Given the description of an element on the screen output the (x, y) to click on. 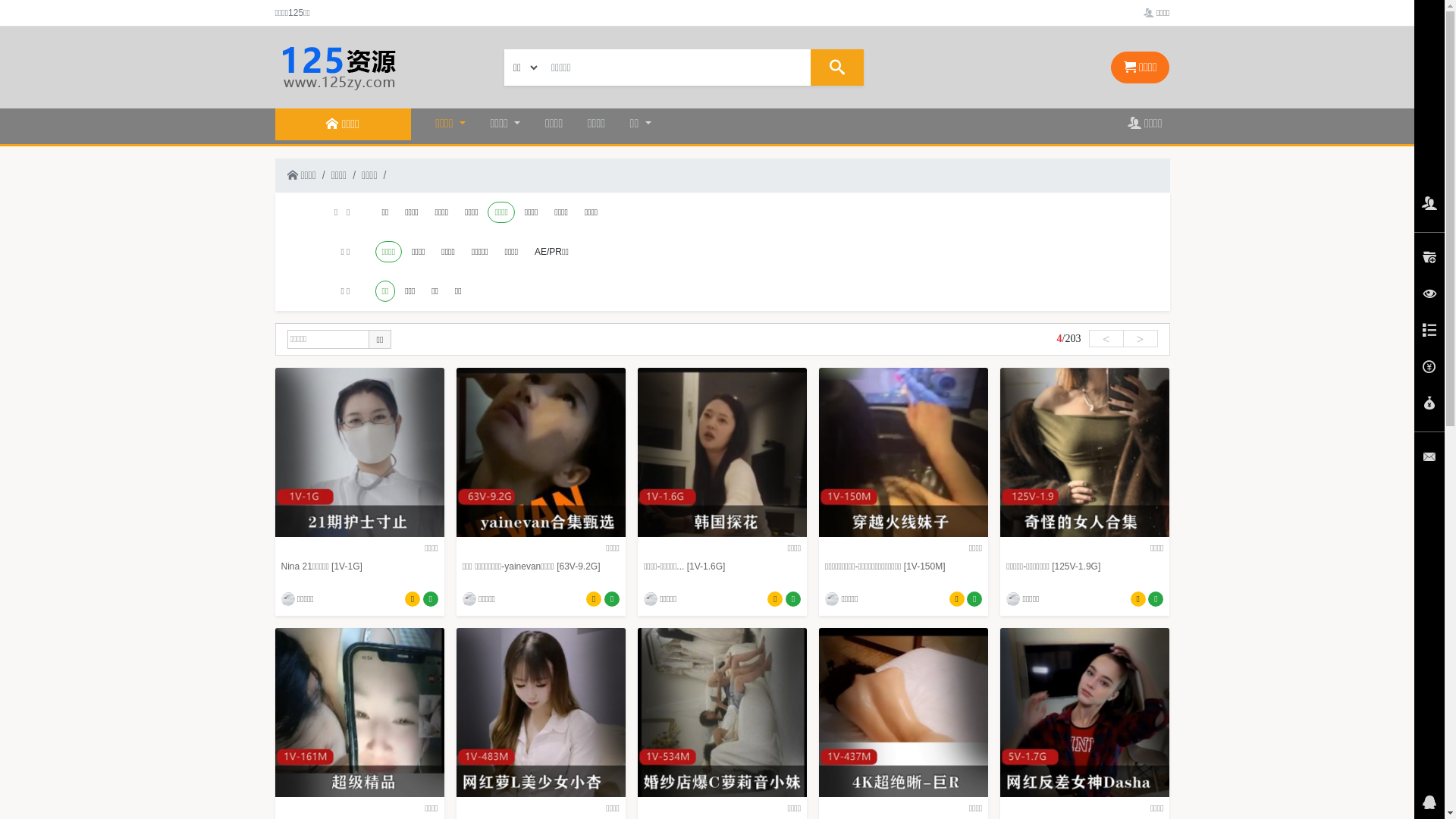
> Element type: text (1139, 338)
< Element type: text (1105, 338)
